Given the description of an element on the screen output the (x, y) to click on. 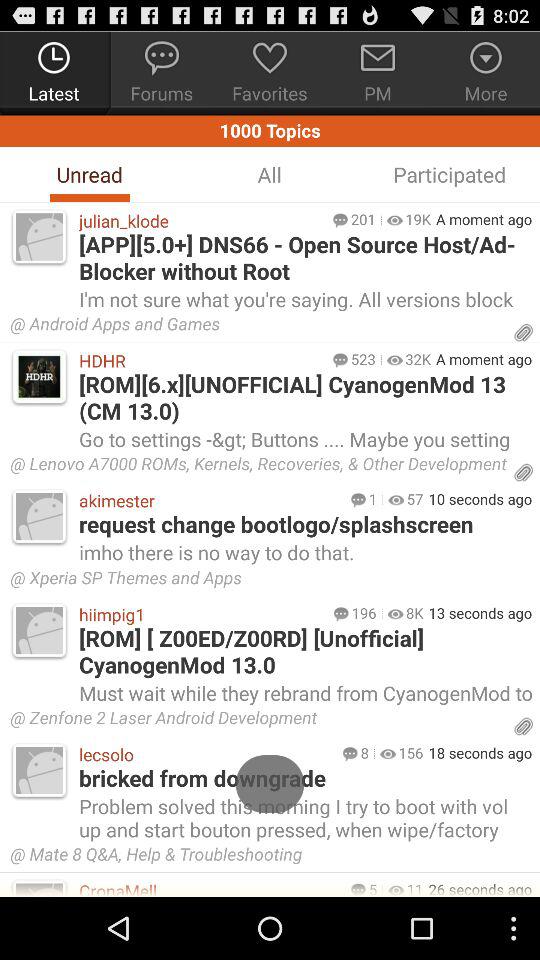
turn off item below 1000 topics (89, 174)
